Given the description of an element on the screen output the (x, y) to click on. 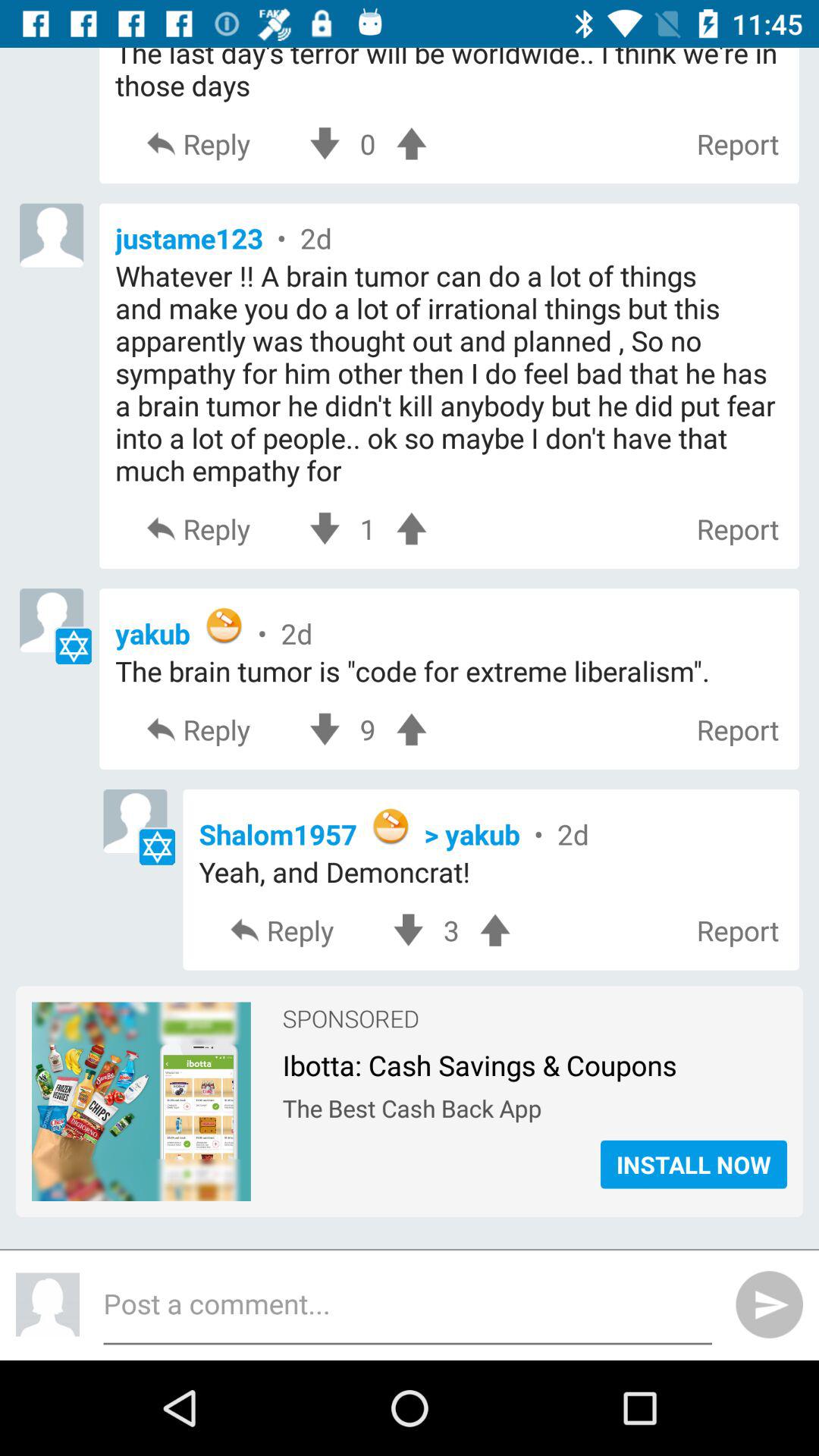
press the icon next to the sponsored (140, 1023)
